Given the description of an element on the screen output the (x, y) to click on. 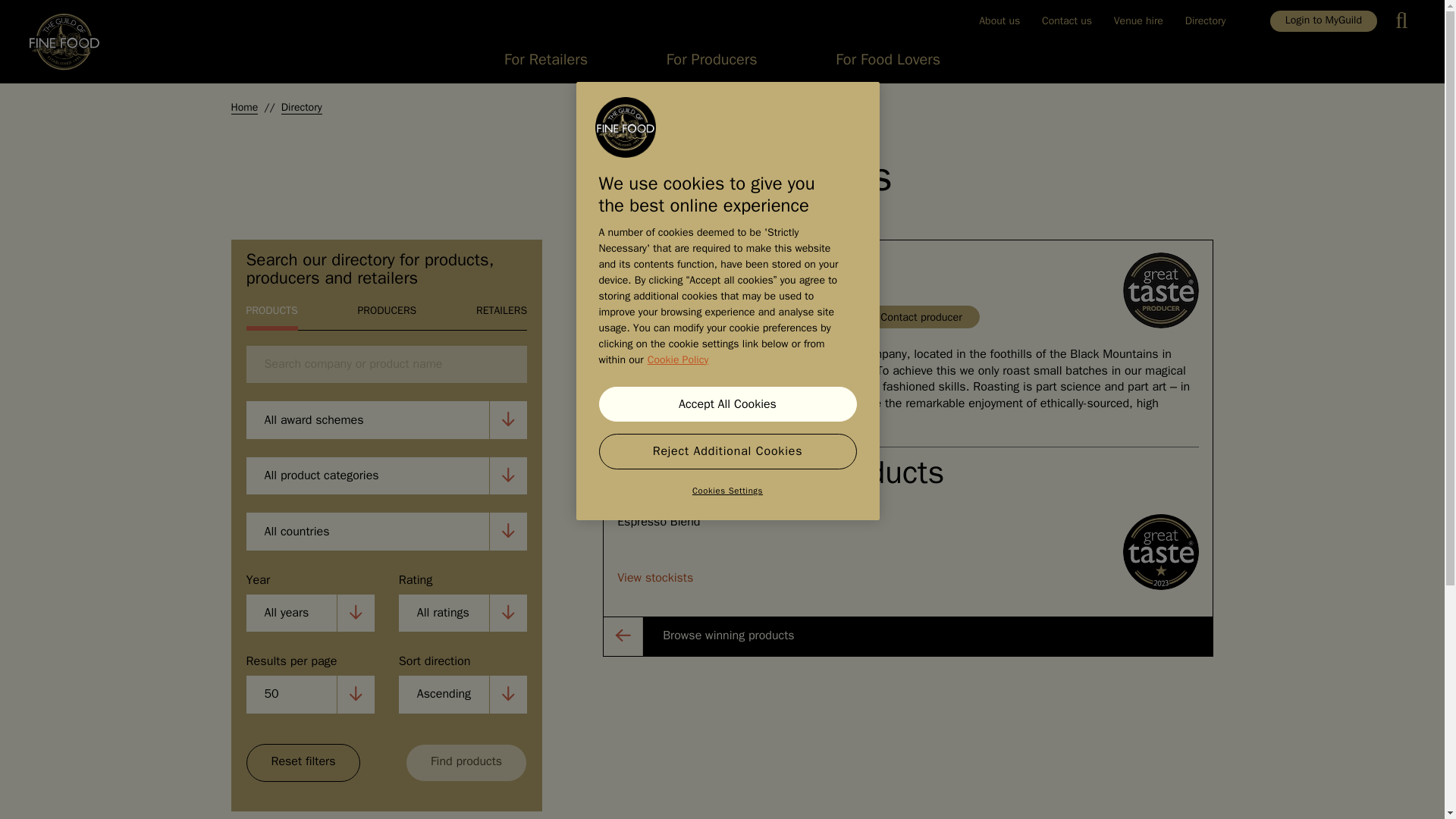
About us (999, 20)
Toggle the site search panel (1406, 21)
Contact us (1066, 20)
For Retailers (545, 63)
Contact us (1066, 20)
Venue hire (1137, 20)
Directory (1204, 20)
The Guild of Fine Food (624, 127)
For Producers (711, 63)
About us (999, 20)
Directory (1204, 20)
Venue hire (1137, 20)
Login to MyGuild (1323, 20)
